Given the description of an element on the screen output the (x, y) to click on. 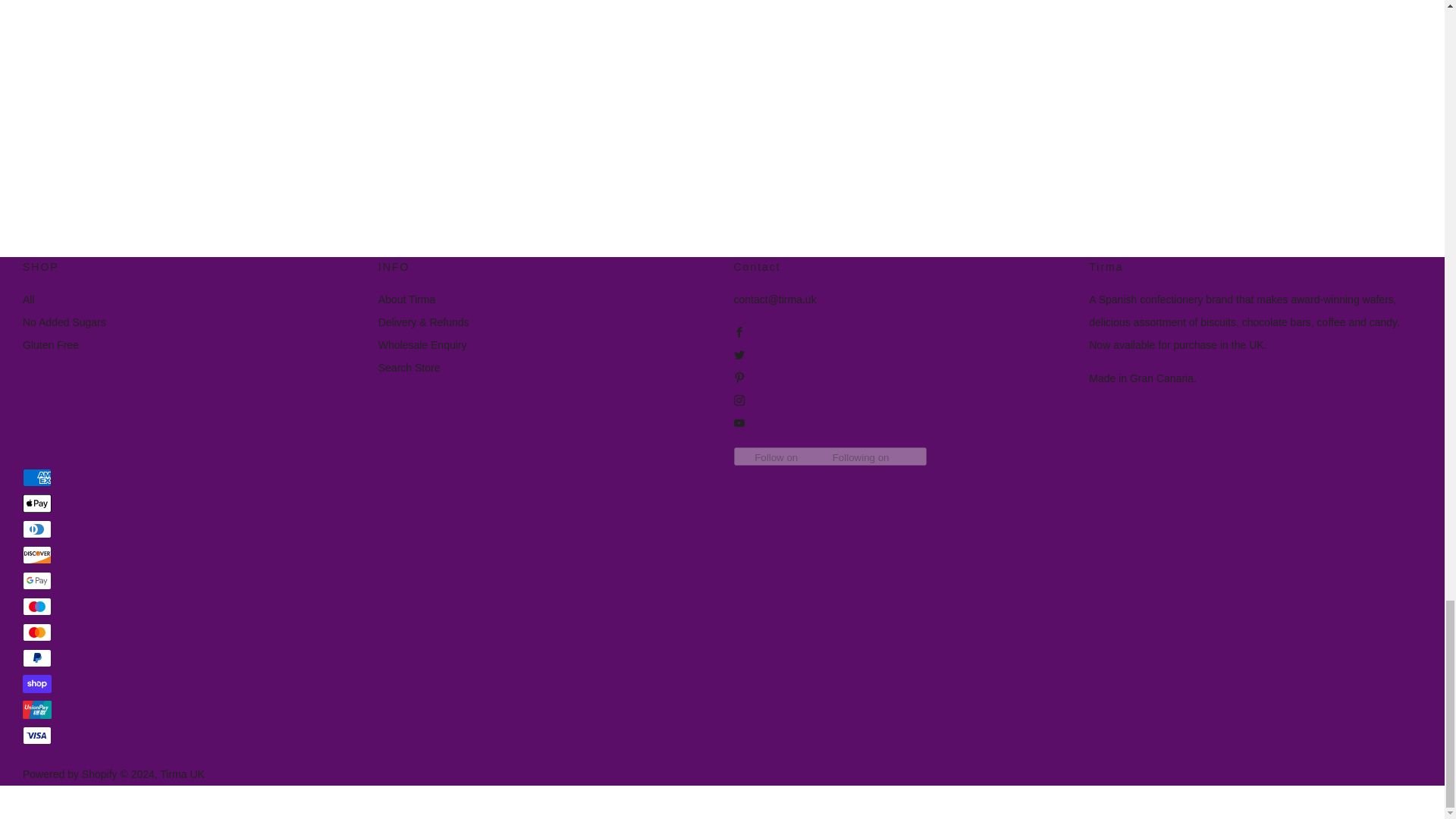
Apple Pay (36, 503)
Shop Pay (36, 683)
Discover (36, 555)
Google Pay (36, 580)
Maestro (36, 606)
American Express (36, 477)
PayPal (36, 658)
Diners Club (36, 529)
Union Pay (36, 710)
Mastercard (36, 632)
Visa (36, 735)
